Given the description of an element on the screen output the (x, y) to click on. 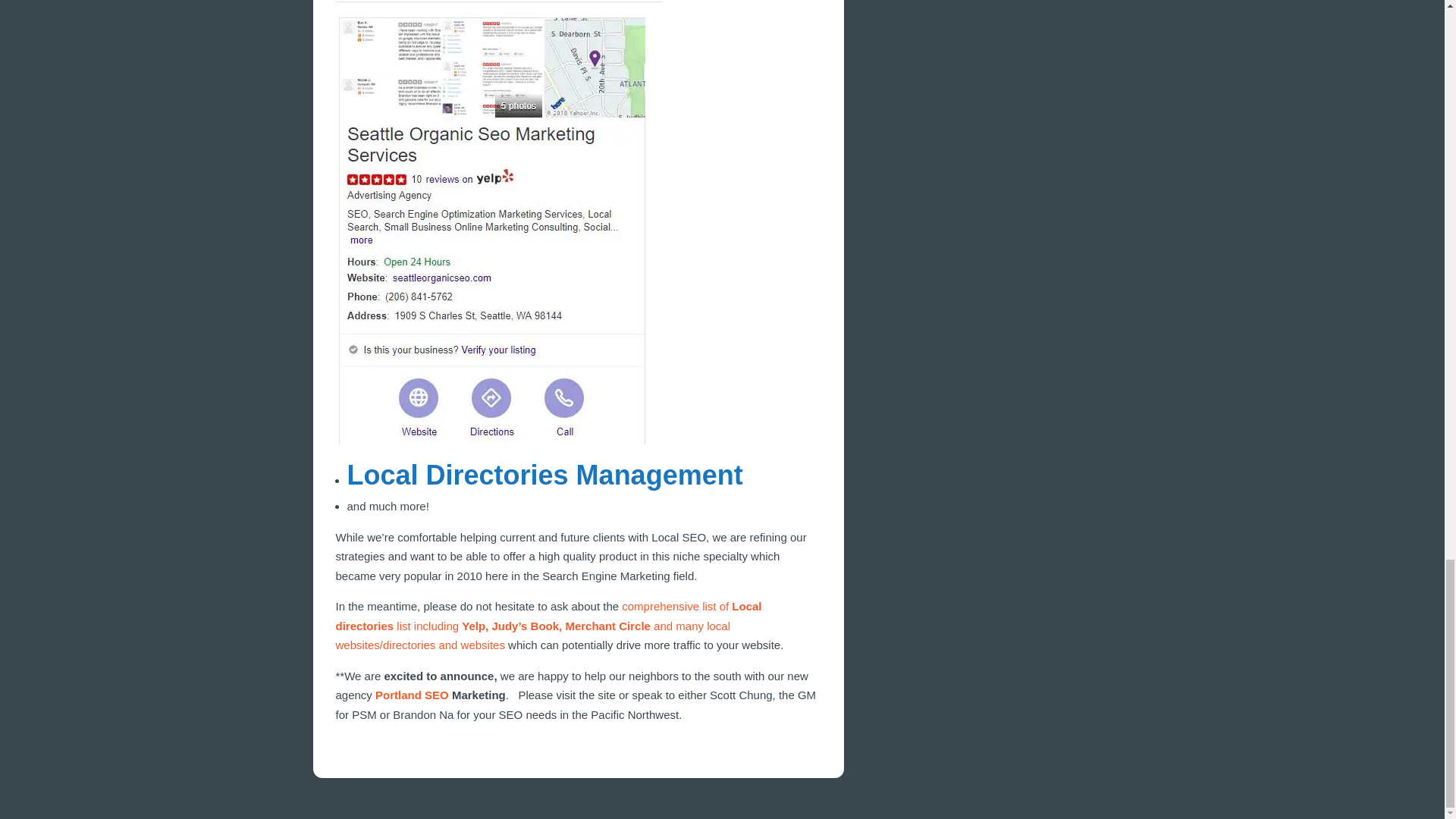
Portland SEO (411, 694)
portland seo (411, 694)
list of local seo directories (547, 625)
